Given the description of an element on the screen output the (x, y) to click on. 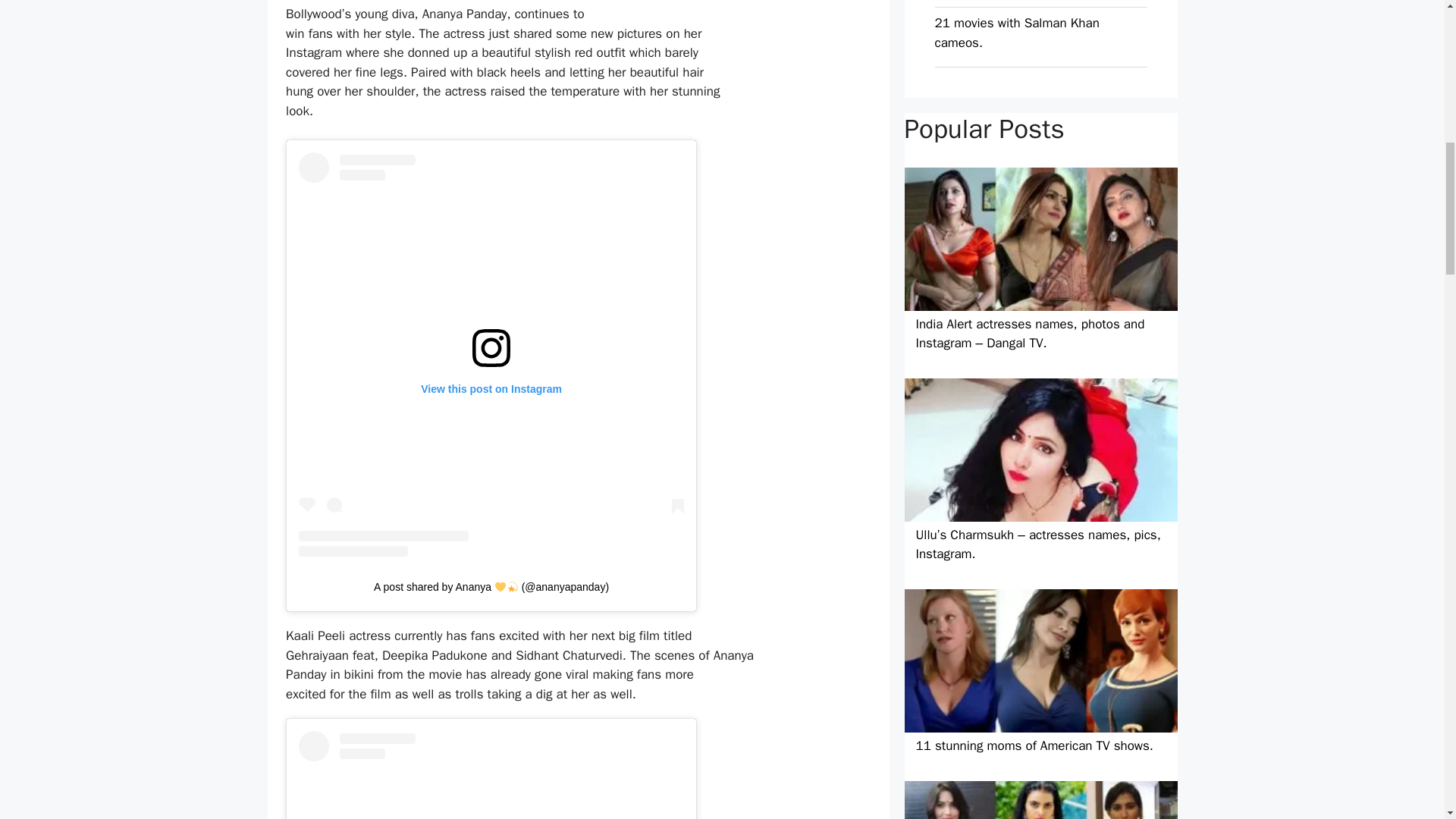
View this post on Instagram (491, 775)
